Given the description of an element on the screen output the (x, y) to click on. 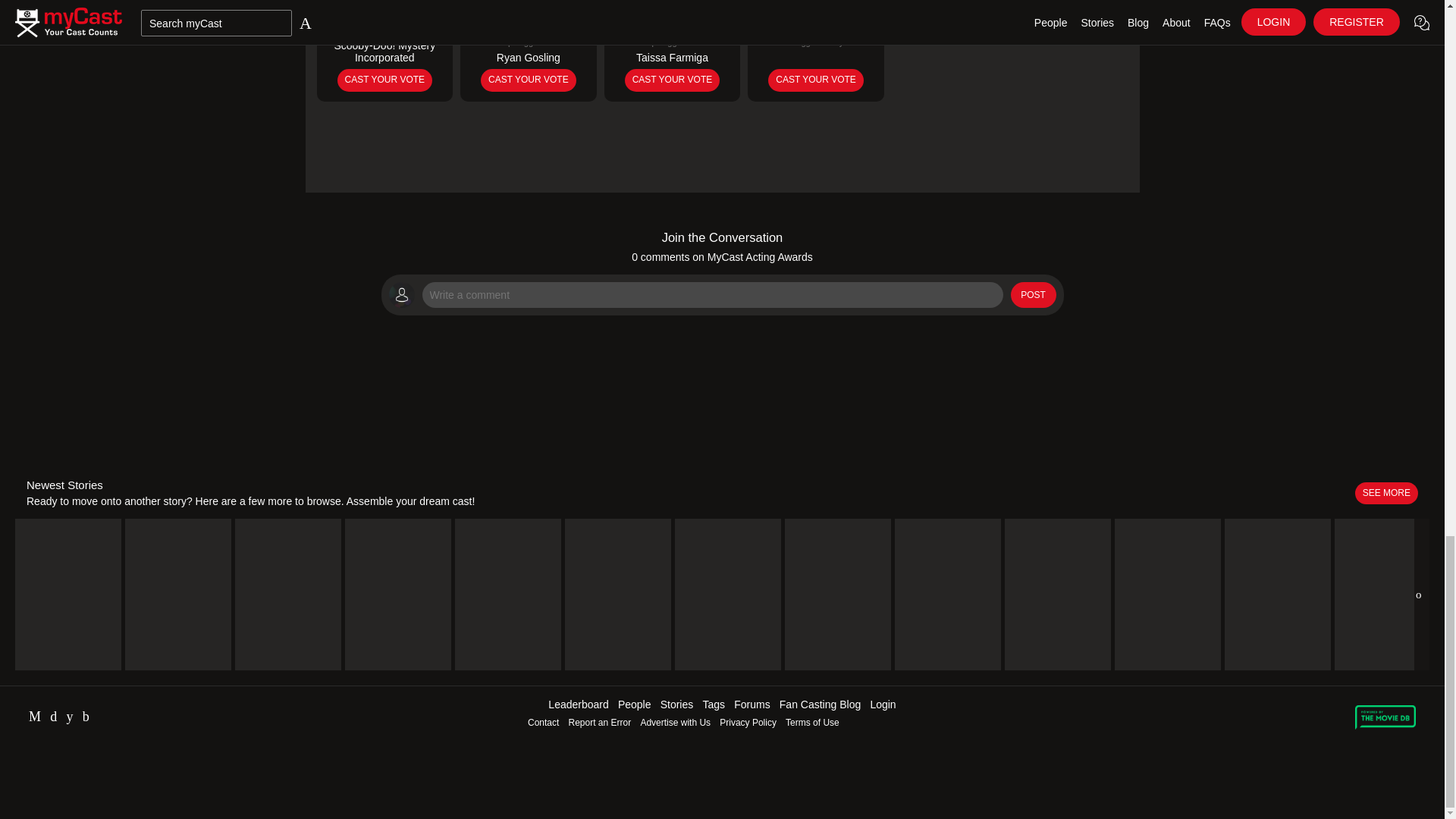
Best Supporting Actress (672, 50)
Worst Director (815, 50)
Best Animated Series (384, 50)
Best Supporting Actor (528, 50)
